Given the description of an element on the screen output the (x, y) to click on. 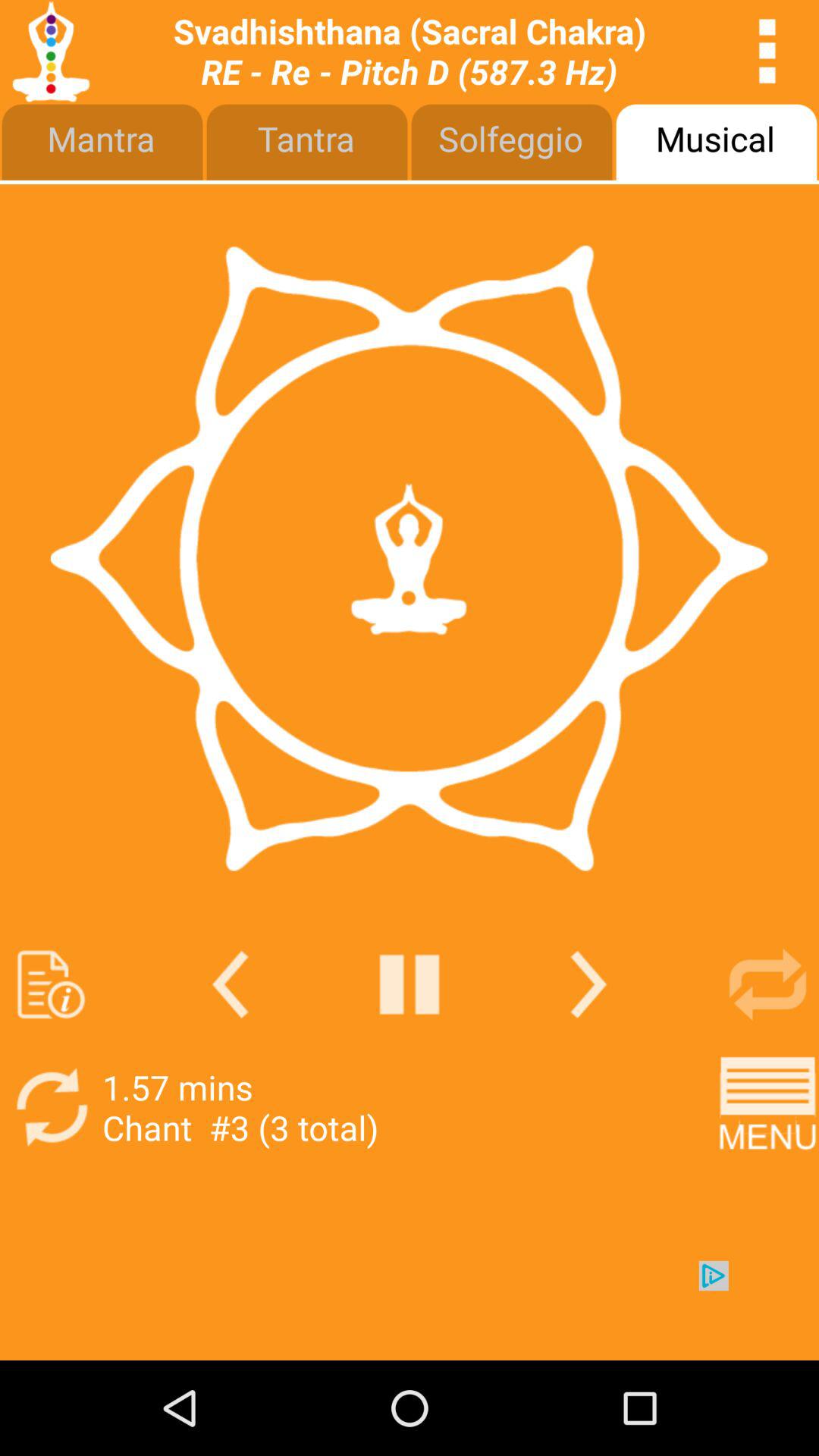
play option (409, 984)
